Given the description of an element on the screen output the (x, y) to click on. 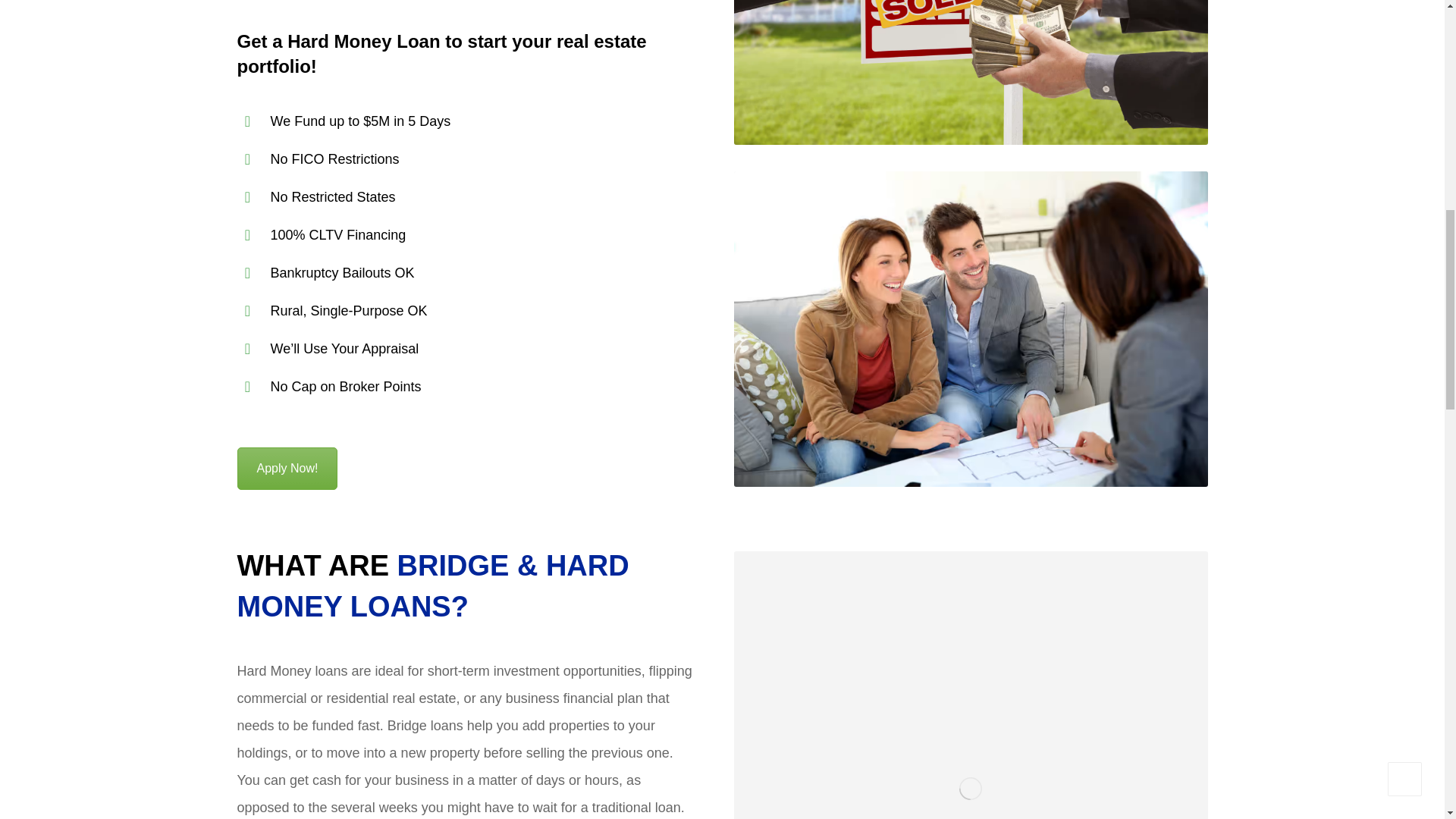
p9 (970, 685)
Apply (286, 468)
